Given the description of an element on the screen output the (x, y) to click on. 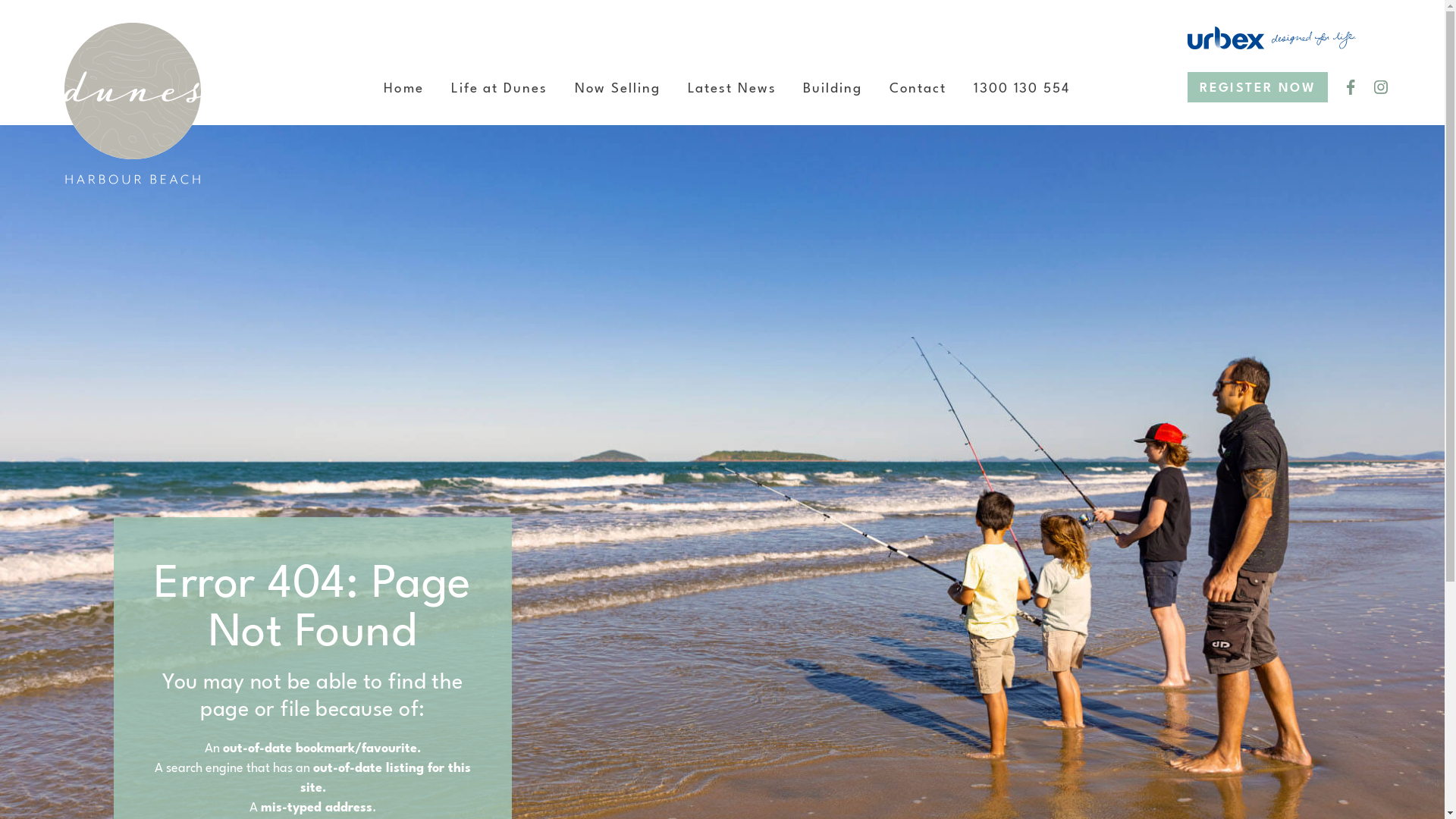
Contact Element type: text (917, 89)
Building Element type: text (832, 89)
Now Selling Element type: text (617, 89)
Latest News Element type: text (731, 89)
1300 130 554 Element type: text (1021, 89)
Urbex Element type: hover (1271, 37)
Life at Dunes Element type: text (499, 89)
Home Element type: text (403, 89)
REGISTER NOW Element type: text (1257, 87)
